Given the description of an element on the screen output the (x, y) to click on. 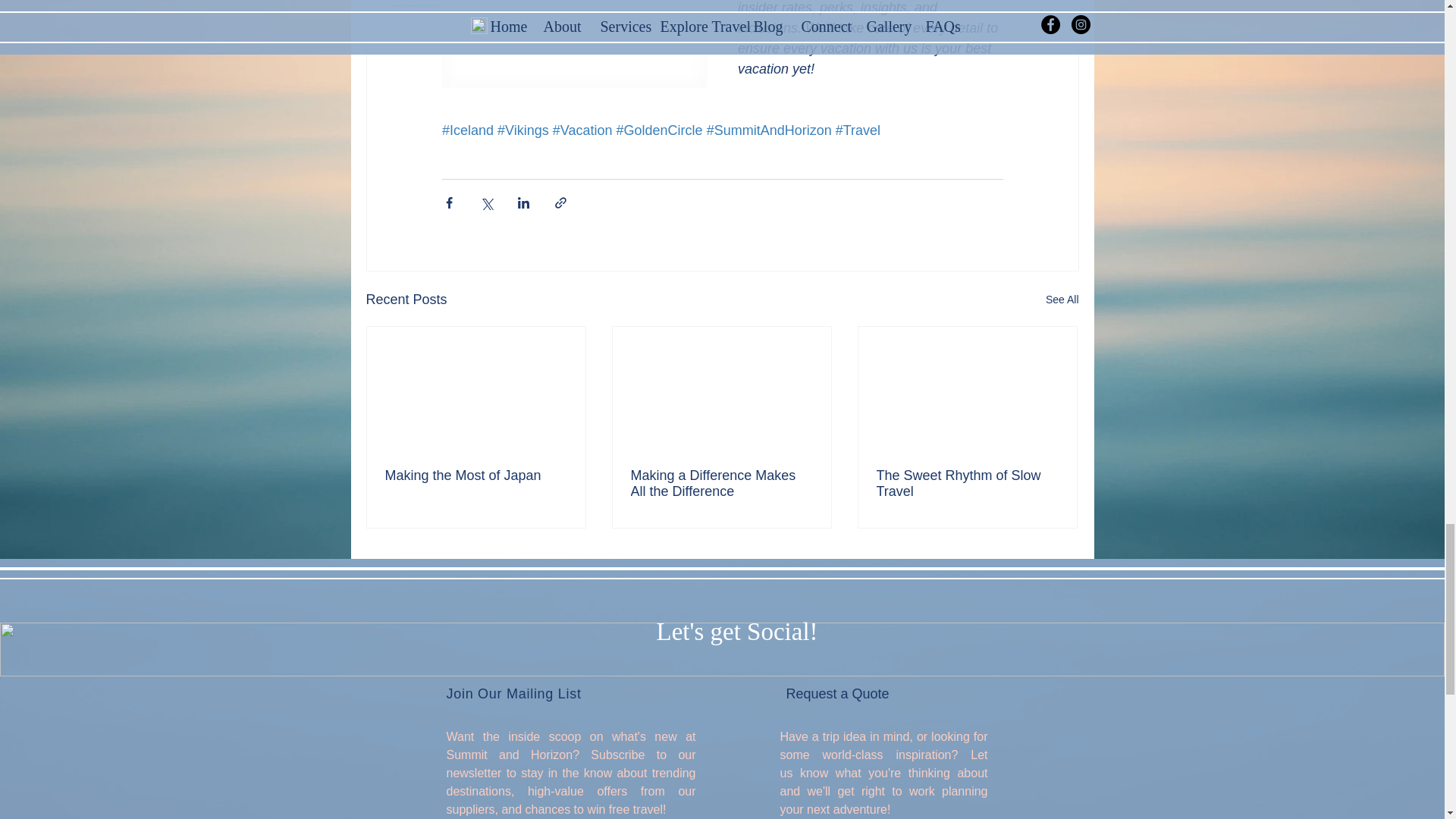
Making a Difference Makes All the Difference (721, 483)
See All (1061, 300)
The Sweet Rhythm of Slow Travel (967, 483)
Making the Most of Japan (476, 475)
